Given the description of an element on the screen output the (x, y) to click on. 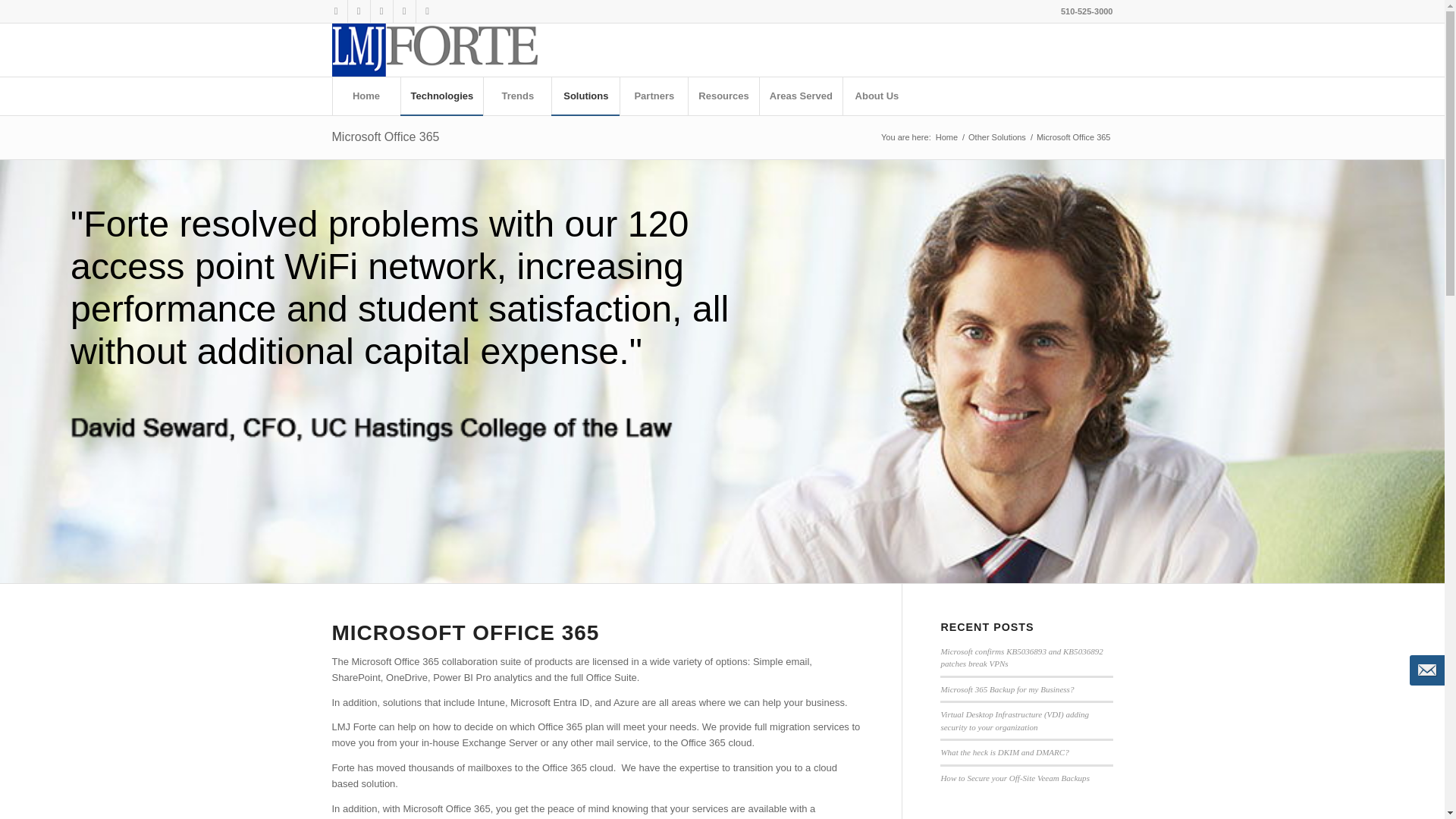
Youtube (403, 11)
Facebook (358, 11)
Permanent Link: Microsoft Office 365 (385, 136)
Solutions (585, 95)
Home (365, 95)
Mail (426, 11)
Linkedin (335, 11)
Twitter (380, 11)
Trends (517, 95)
Other Solutions (996, 137)
Forte Systems, Inc. (946, 137)
Technologies (441, 95)
